Given the description of an element on the screen output the (x, y) to click on. 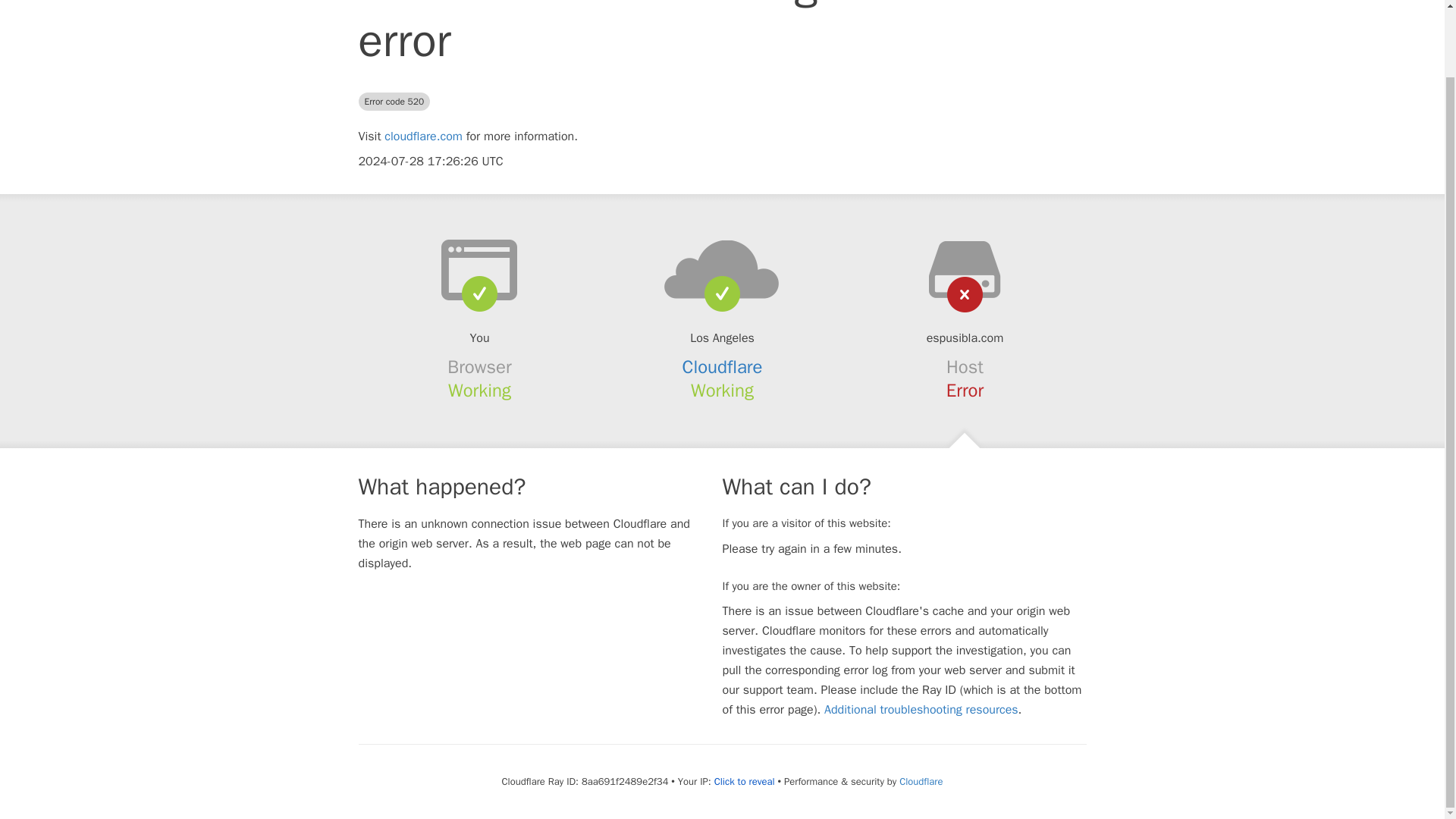
Cloudflare (722, 366)
Cloudflare (920, 780)
Additional troubleshooting resources (920, 709)
Click to reveal (744, 781)
cloudflare.com (423, 136)
